Given the description of an element on the screen output the (x, y) to click on. 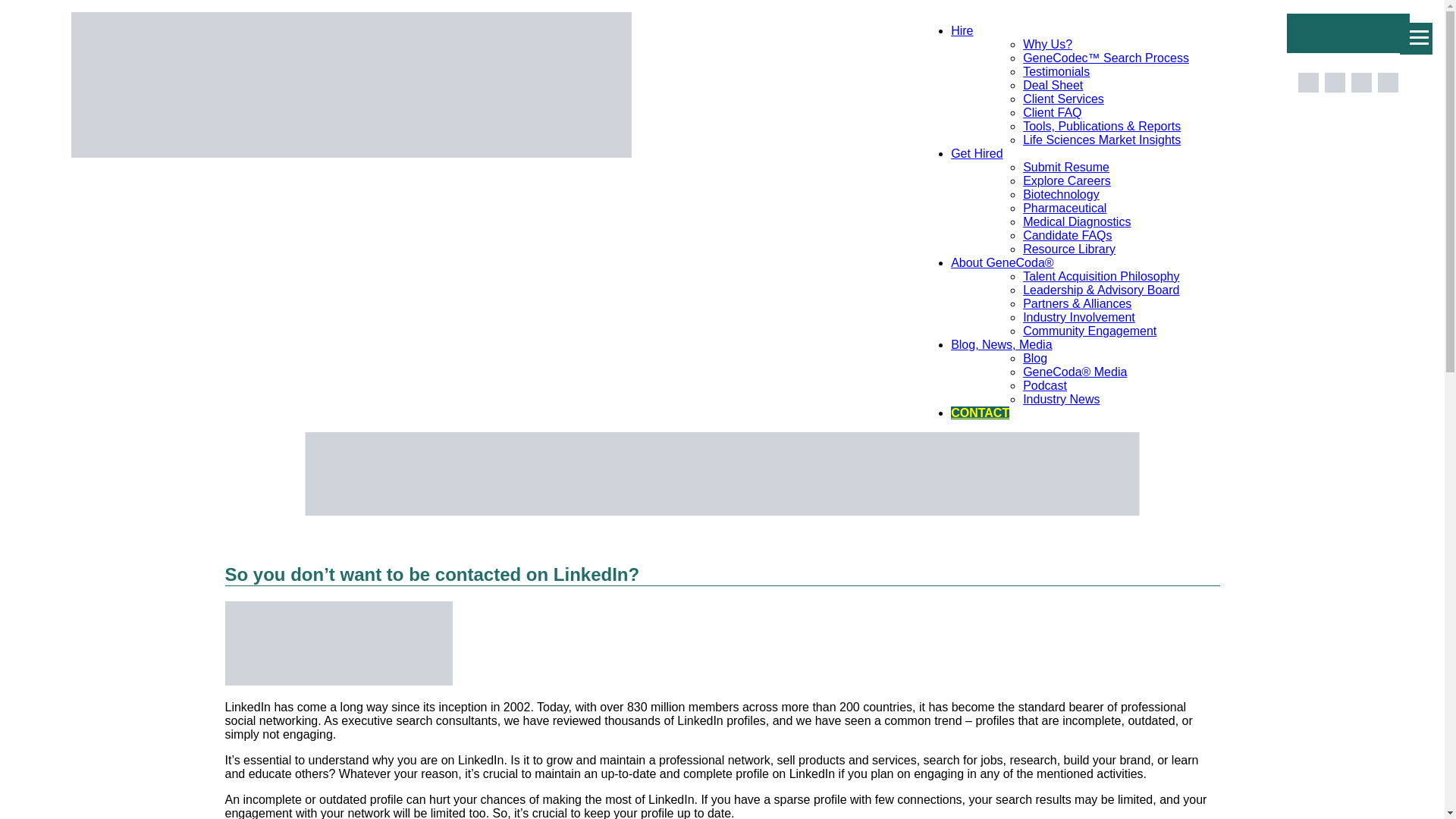
Blog, News, Media (1000, 344)
Industry Involvement (1079, 317)
Explore Careers (1066, 180)
Podcast (1045, 385)
Life Sciences Market Insights (1101, 139)
Deal Sheet (1053, 84)
Medical Diagnostics (1077, 221)
Talent Acquisition Philosophy (1101, 276)
Resource Library (1069, 248)
Blog (1034, 358)
